Given the description of an element on the screen output the (x, y) to click on. 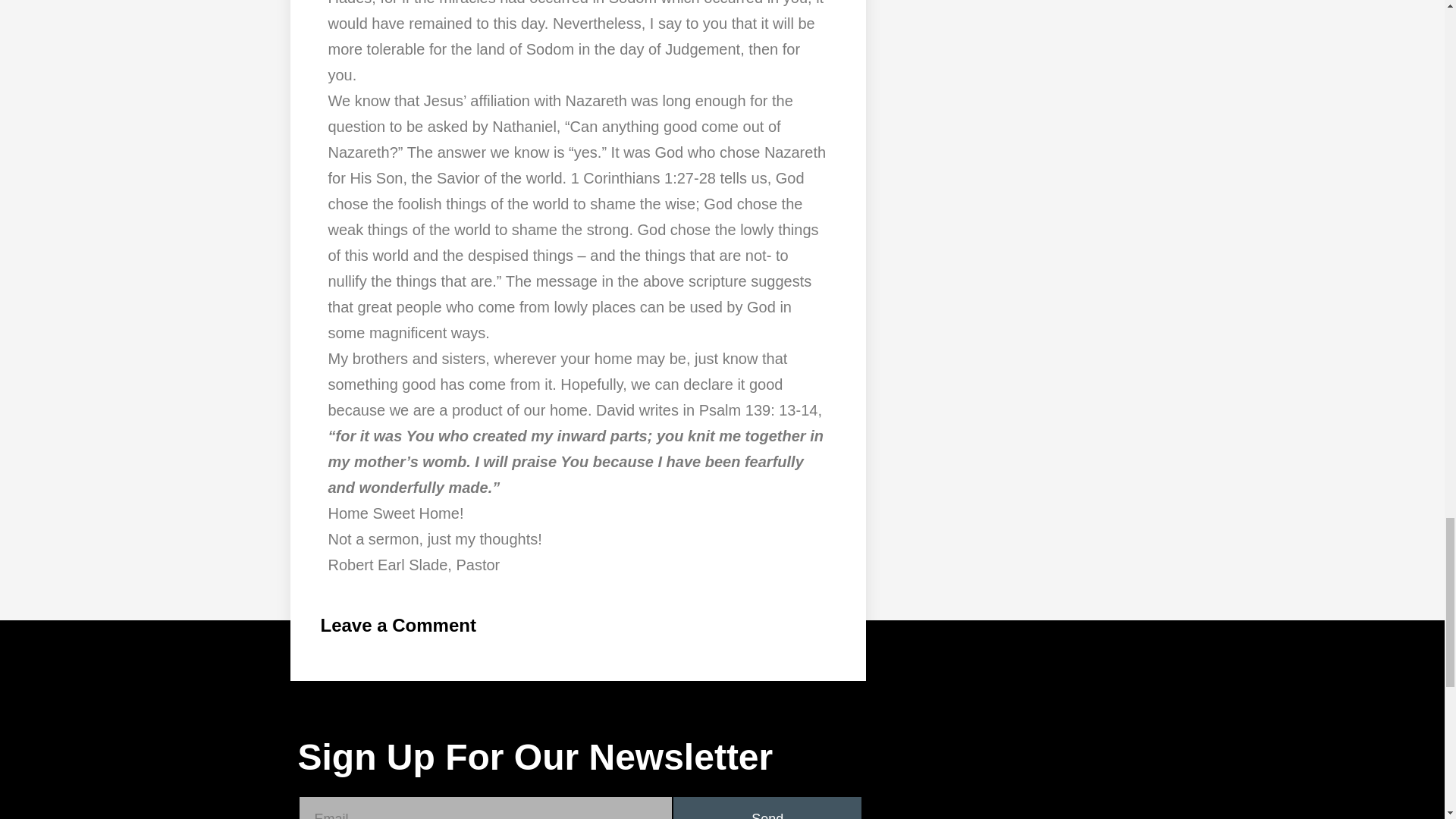
Send (766, 807)
